Given the description of an element on the screen output the (x, y) to click on. 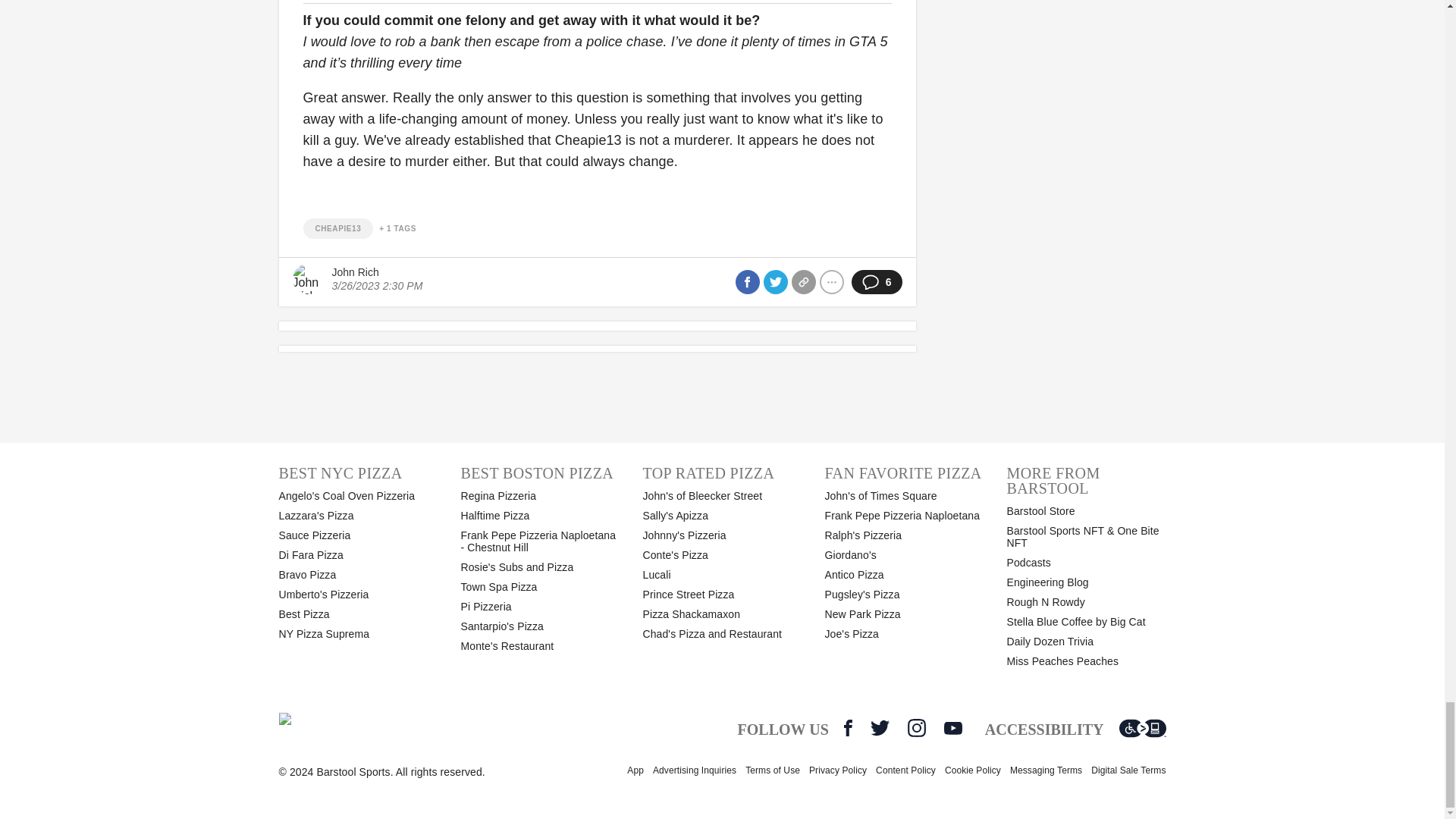
Twitter Icon (879, 728)
Instagram Icon (916, 728)
YouTube Icon (952, 728)
Level Access website accessibility icon (1142, 728)
